Given the description of an element on the screen output the (x, y) to click on. 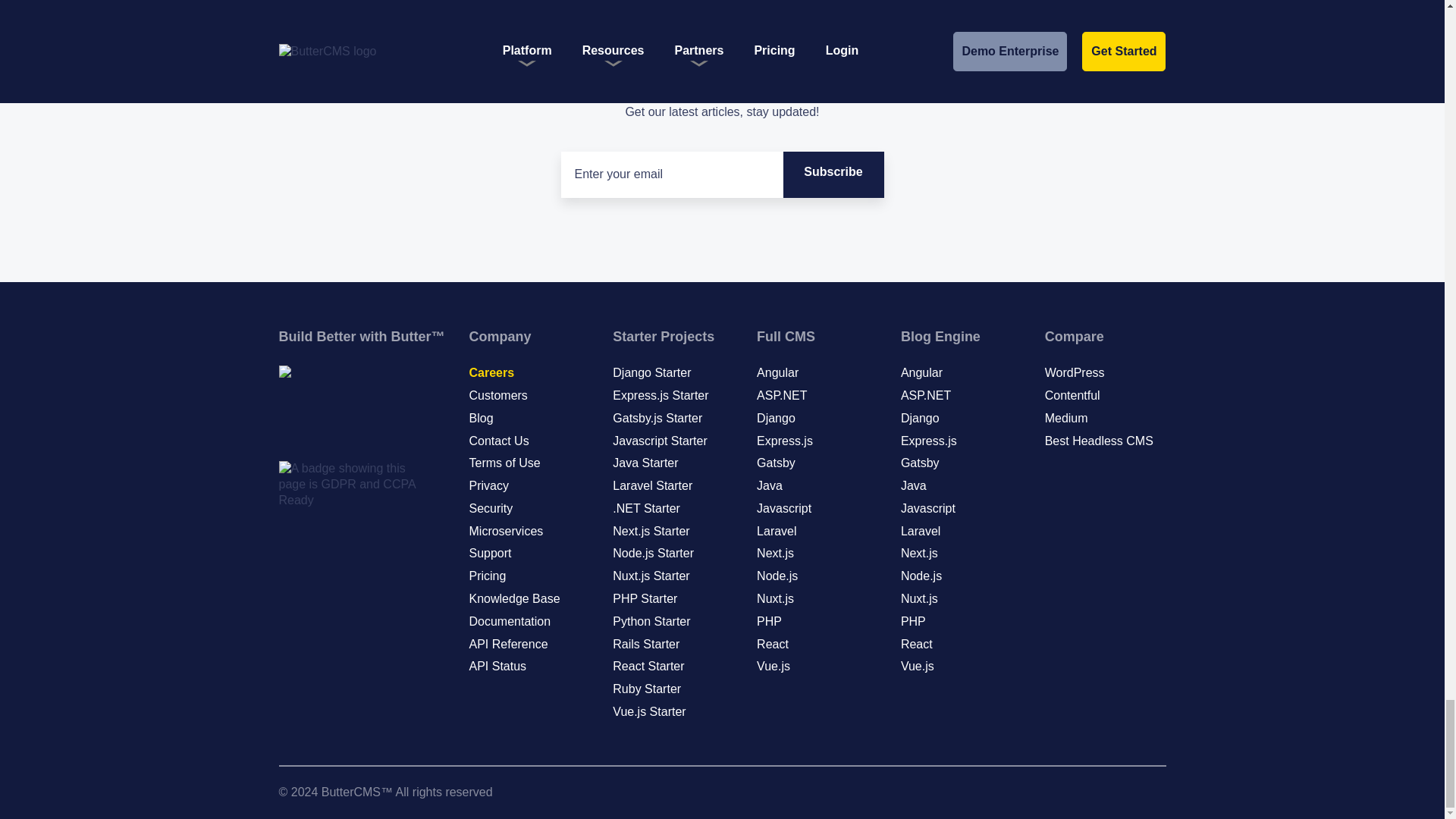
React Starter Project Starter Project (648, 666)
Express.js CMS (784, 440)
Subscribe (833, 174)
Ruby Starter Project Starter Project (646, 688)
Django Starter Project Starter Project (651, 372)
Rails Starter Project Starter Project (645, 644)
Gatsby.js Starter Project Starter Project (656, 418)
Node.js Starter Project Starter Project (653, 553)
Java Starter Project Starter Project (645, 462)
Next.js Starter Project Starter Project (650, 530)
.NET Starter Project Starter Project (645, 508)
Angular CMS (777, 372)
PHP Starter Project Starter Project (644, 598)
Python Starter Project Starter Project (651, 621)
Laravel Starter Project Starter Project (652, 485)
